Given the description of an element on the screen output the (x, y) to click on. 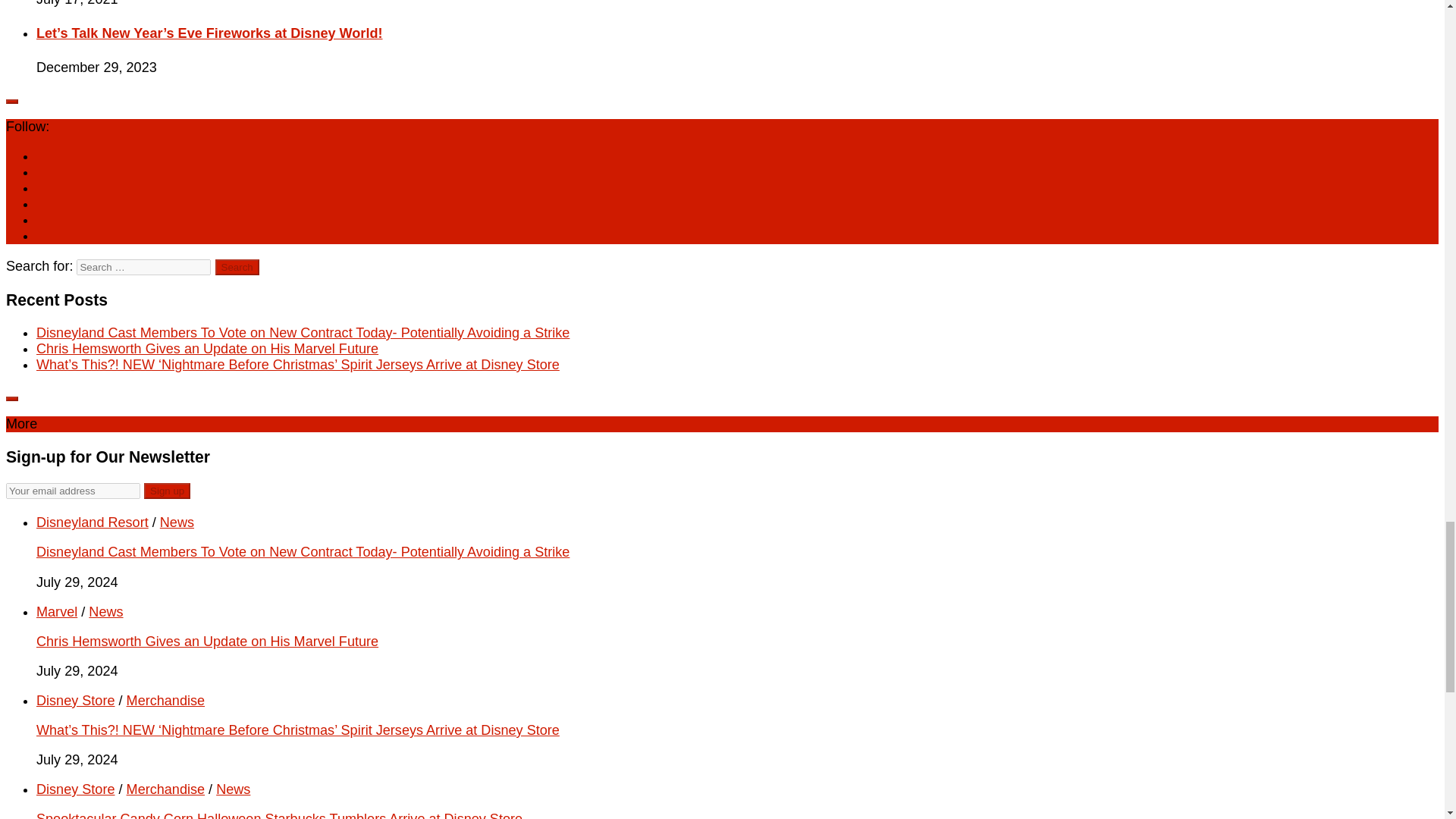
Search (237, 267)
Sign up (167, 490)
Expand Sidebar (11, 101)
Search (237, 267)
Expand Sidebar (11, 398)
